Given the description of an element on the screen output the (x, y) to click on. 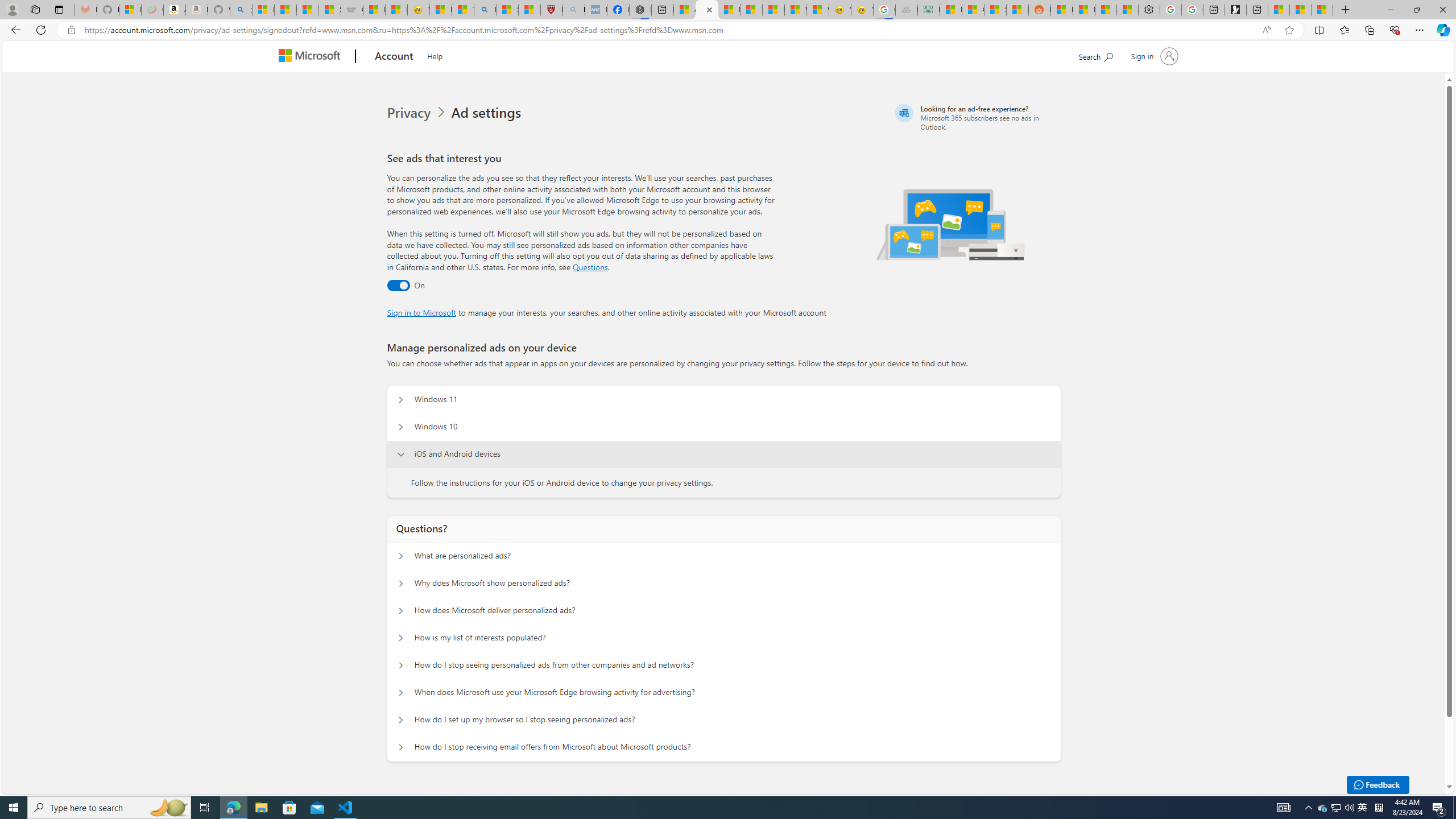
Questions? What are personalized ads? (401, 556)
14 Common Myths Debunked By Scientific Facts (751, 9)
These 3 Stocks Pay You More Than 5% to Own Them (1322, 9)
DITOGAMES AG Imprint (928, 9)
Settings (1149, 9)
Help (434, 54)
Browser essentials (1394, 29)
